Given the description of an element on the screen output the (x, y) to click on. 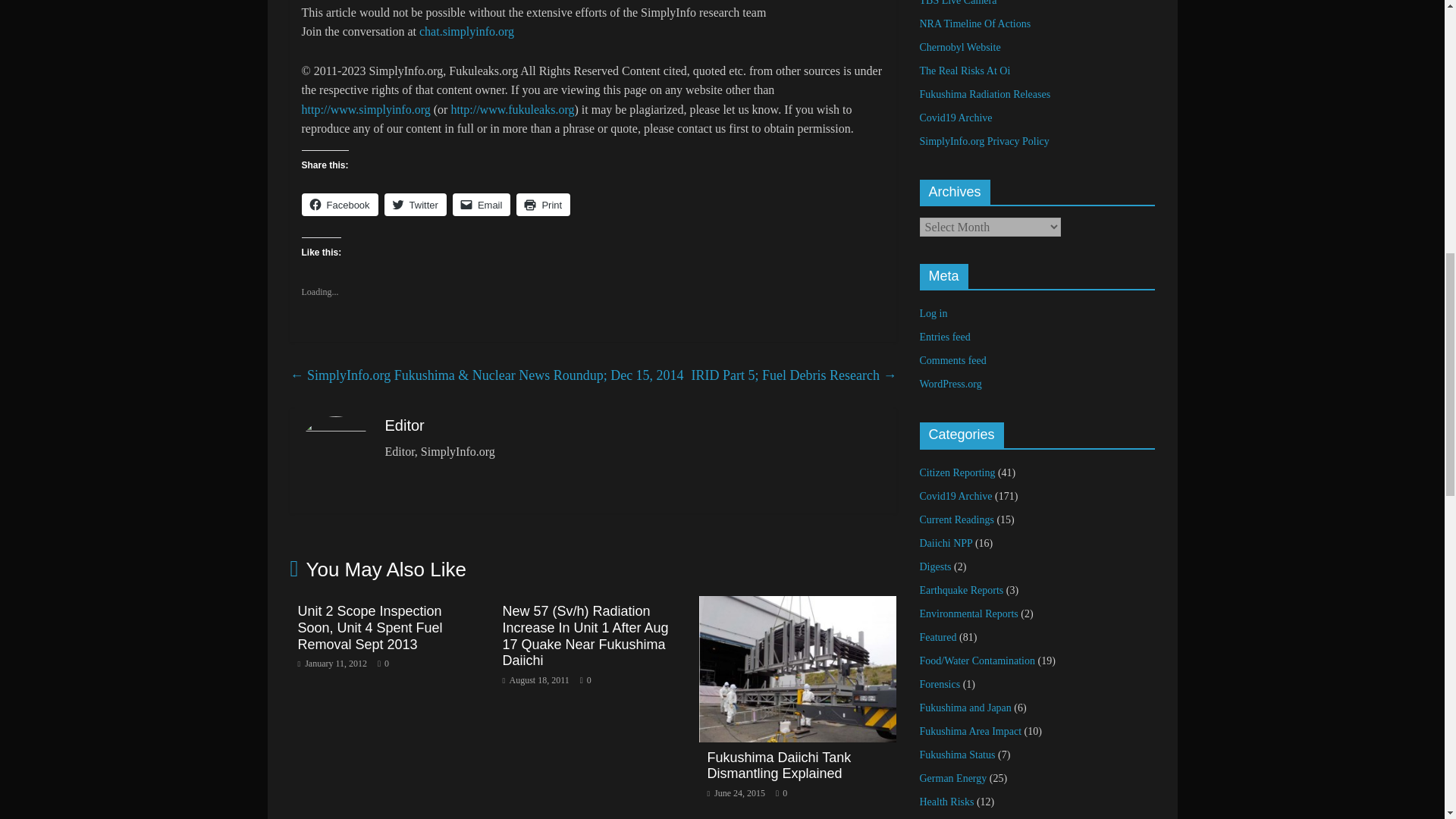
Click to email a link to a friend (481, 204)
6:35 pm (331, 663)
Click to print (543, 204)
Click to share on Twitter (415, 204)
Click to share on Facebook (339, 204)
